Given the description of an element on the screen output the (x, y) to click on. 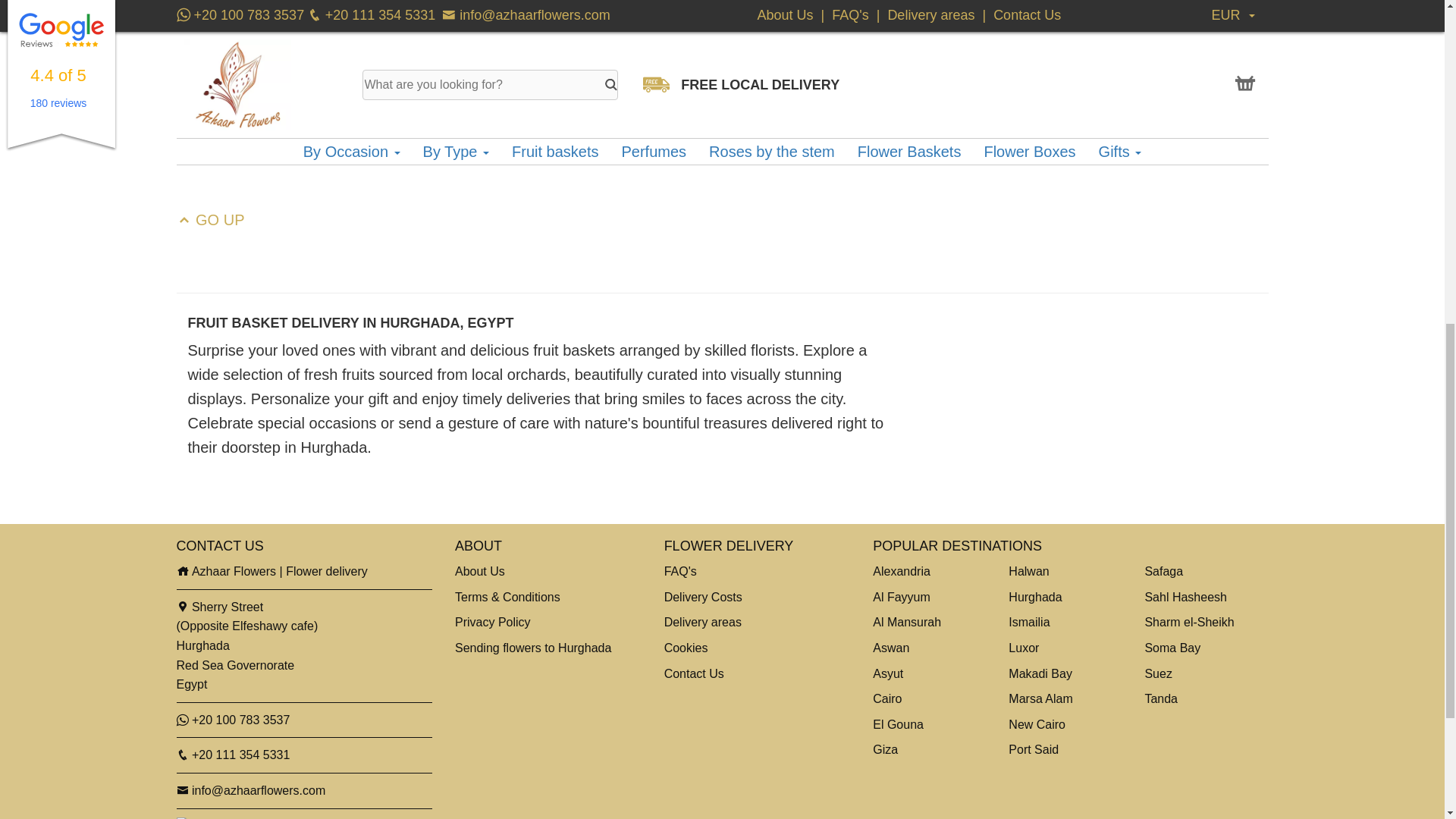
Fitness Fruit Basket (350, 28)
Fresh Fruit Basket (1093, 28)
Grace Fruit Basket (721, 28)
